Given the description of an element on the screen output the (x, y) to click on. 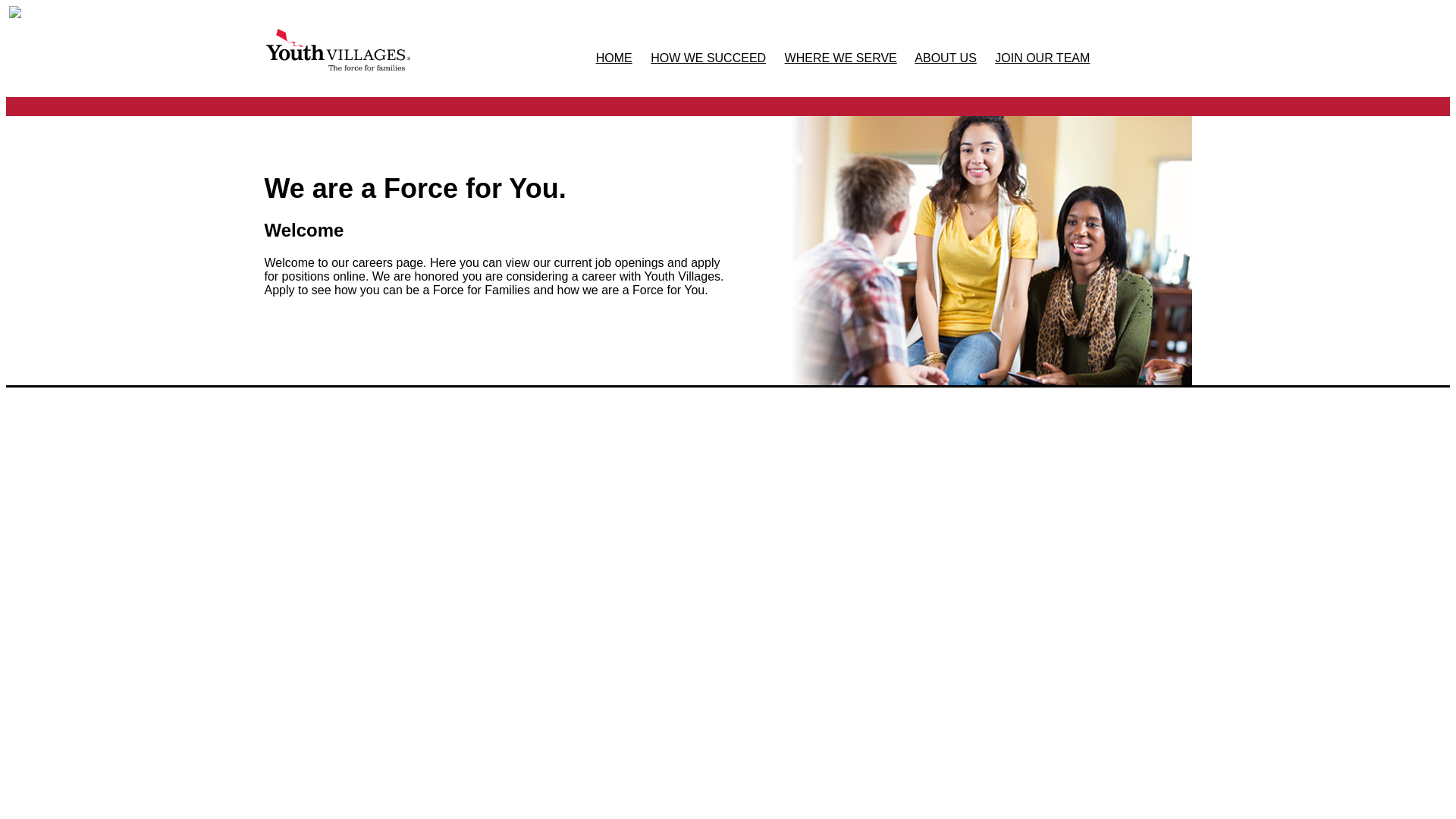
WHERE WE SERVE (840, 57)
ABOUT US (945, 57)
HOME (613, 57)
HOW WE SUCCEED (707, 57)
JOIN OUR TEAM (1041, 57)
